Given the description of an element on the screen output the (x, y) to click on. 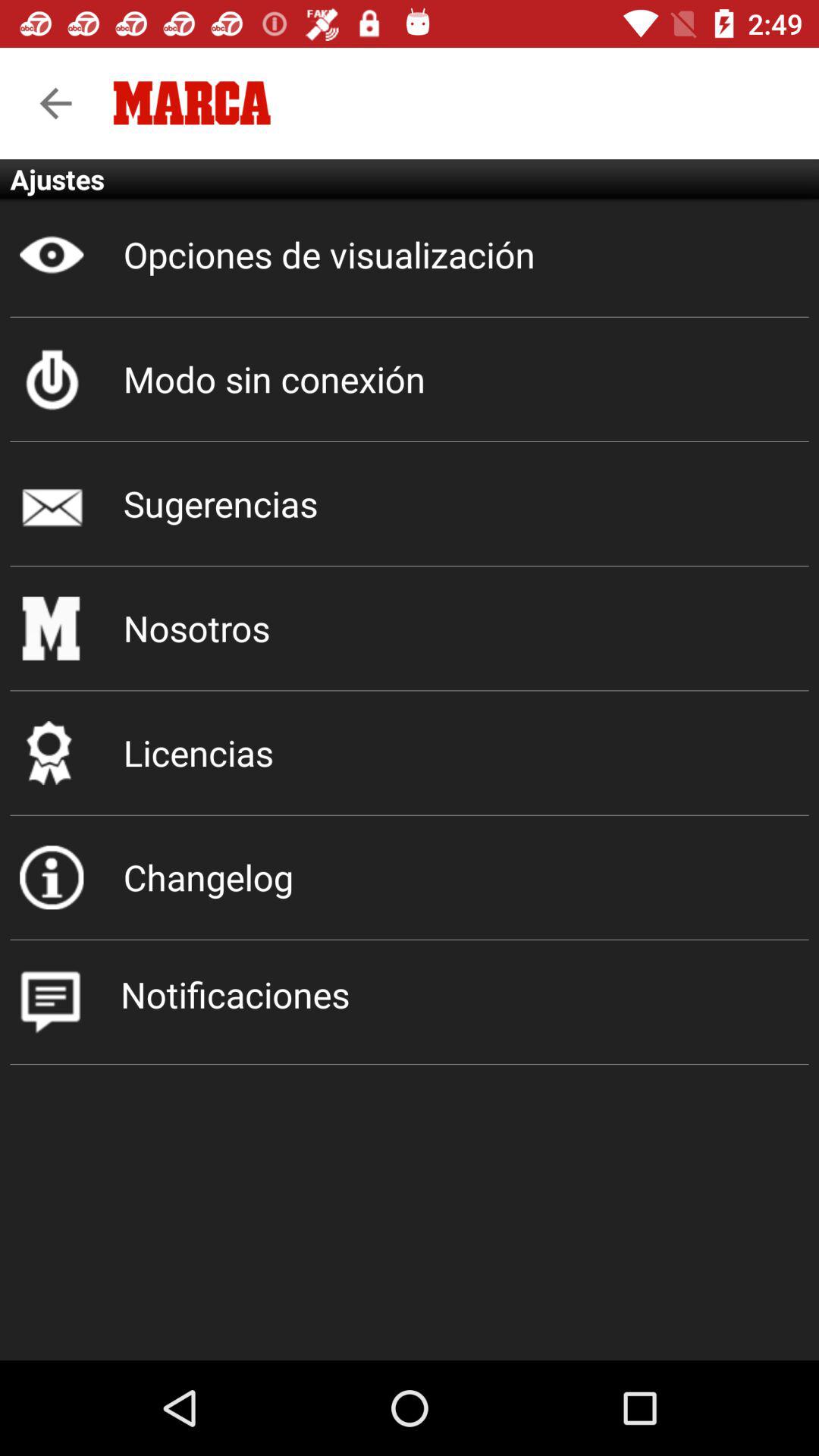
flip to the nosotros icon (409, 628)
